Given the description of an element on the screen output the (x, y) to click on. 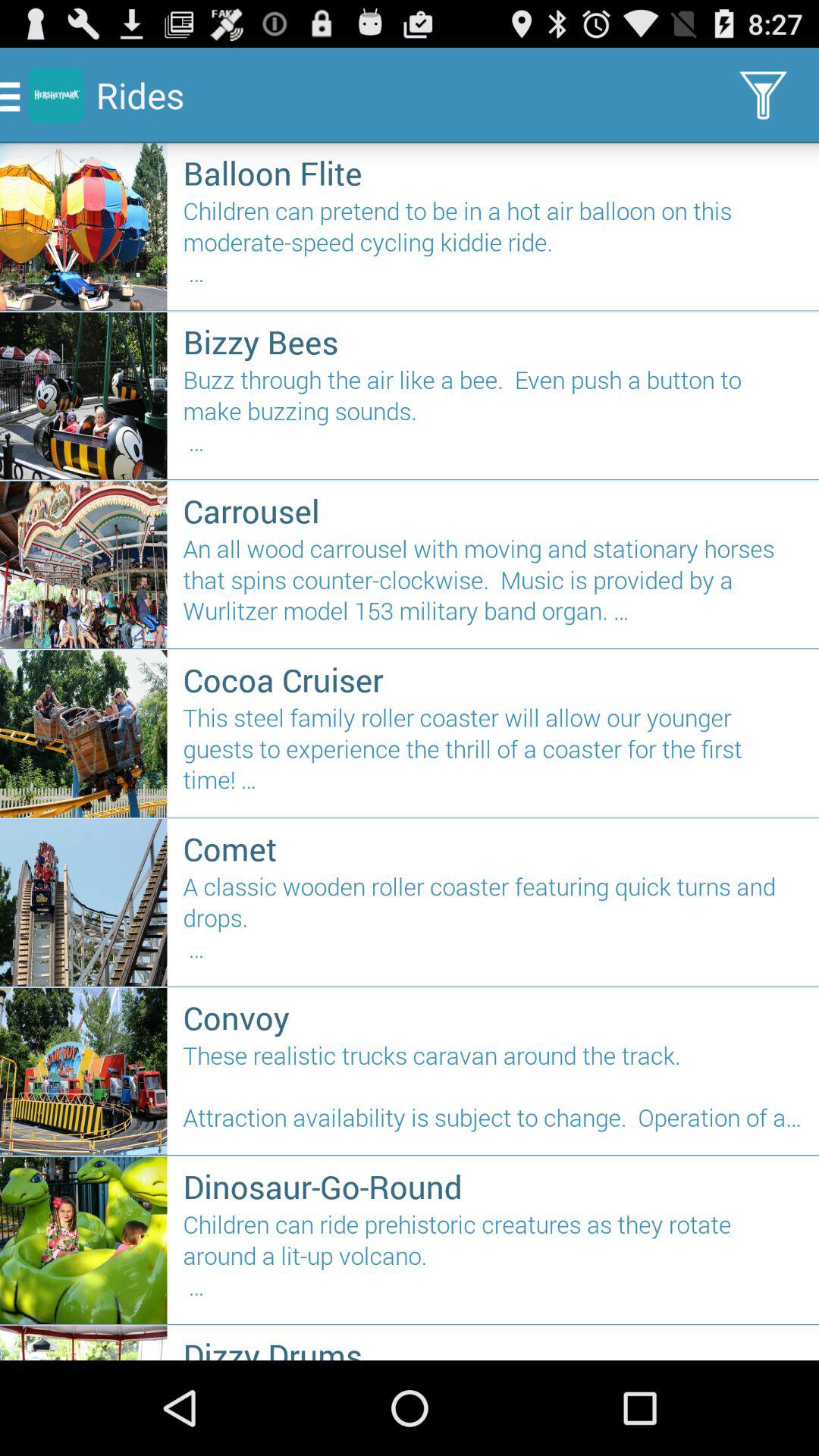
tap dinosaur-go-round icon (493, 1186)
